Given the description of an element on the screen output the (x, y) to click on. 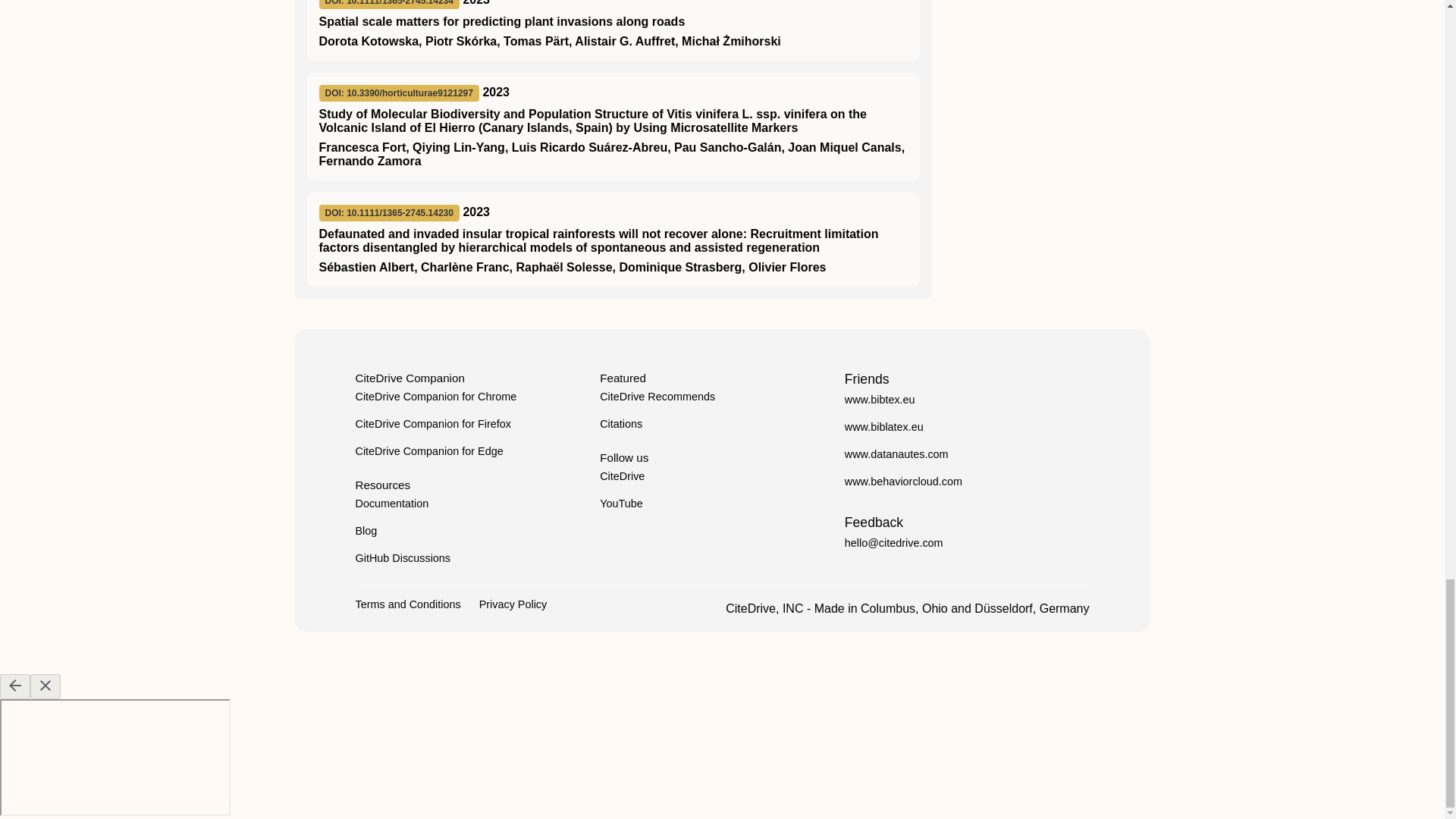
Blog (366, 530)
CiteDrive Recommends (656, 396)
CiteDrive Companion for Firefox (433, 423)
CiteDrive (622, 476)
GitHub Discussions (402, 558)
Citations (620, 423)
CiteDrive Companion for Chrome (435, 396)
YouTube (621, 503)
Documentation (391, 503)
CiteDrive Companion for Edge (428, 451)
